Given the description of an element on the screen output the (x, y) to click on. 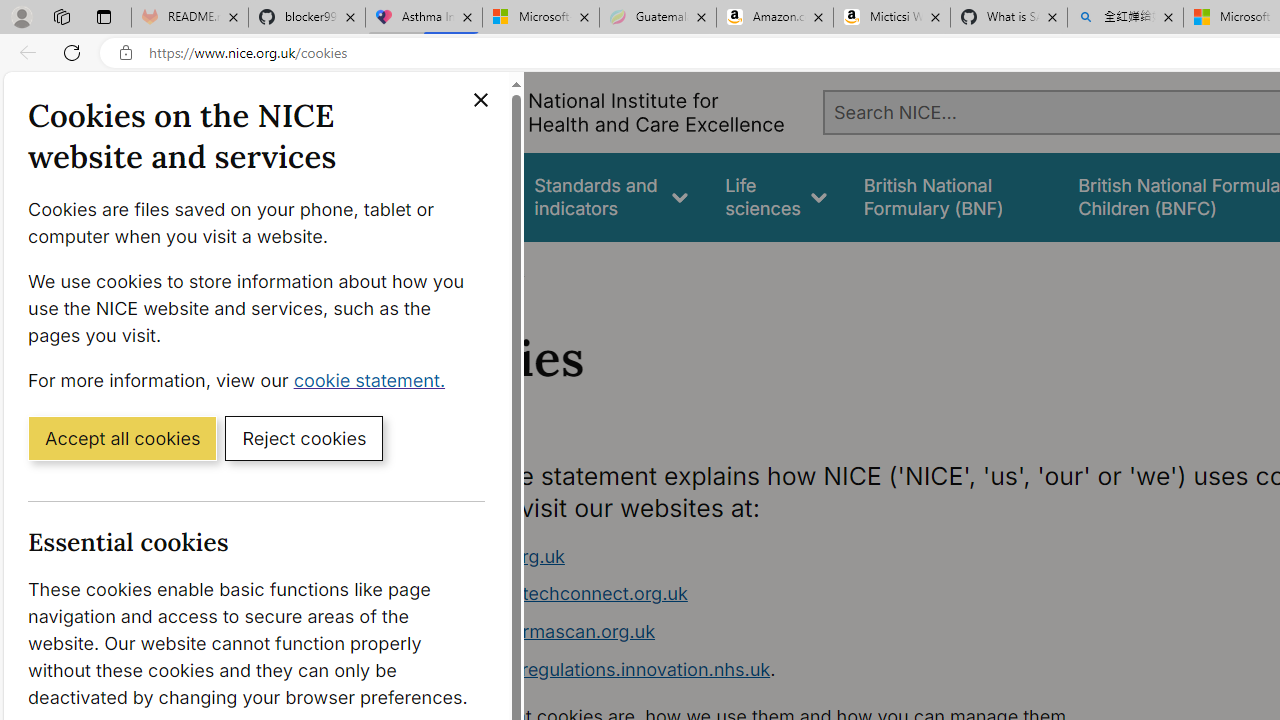
www.digitalregulations.innovation.nhs.uk. (796, 669)
www.digitalregulations.innovation.nhs.uk (595, 668)
cookie statement. (Opens in a new window) (373, 379)
www.healthtechconnect.org.uk (796, 594)
Accept all cookies (122, 437)
